Given the description of an element on the screen output the (x, y) to click on. 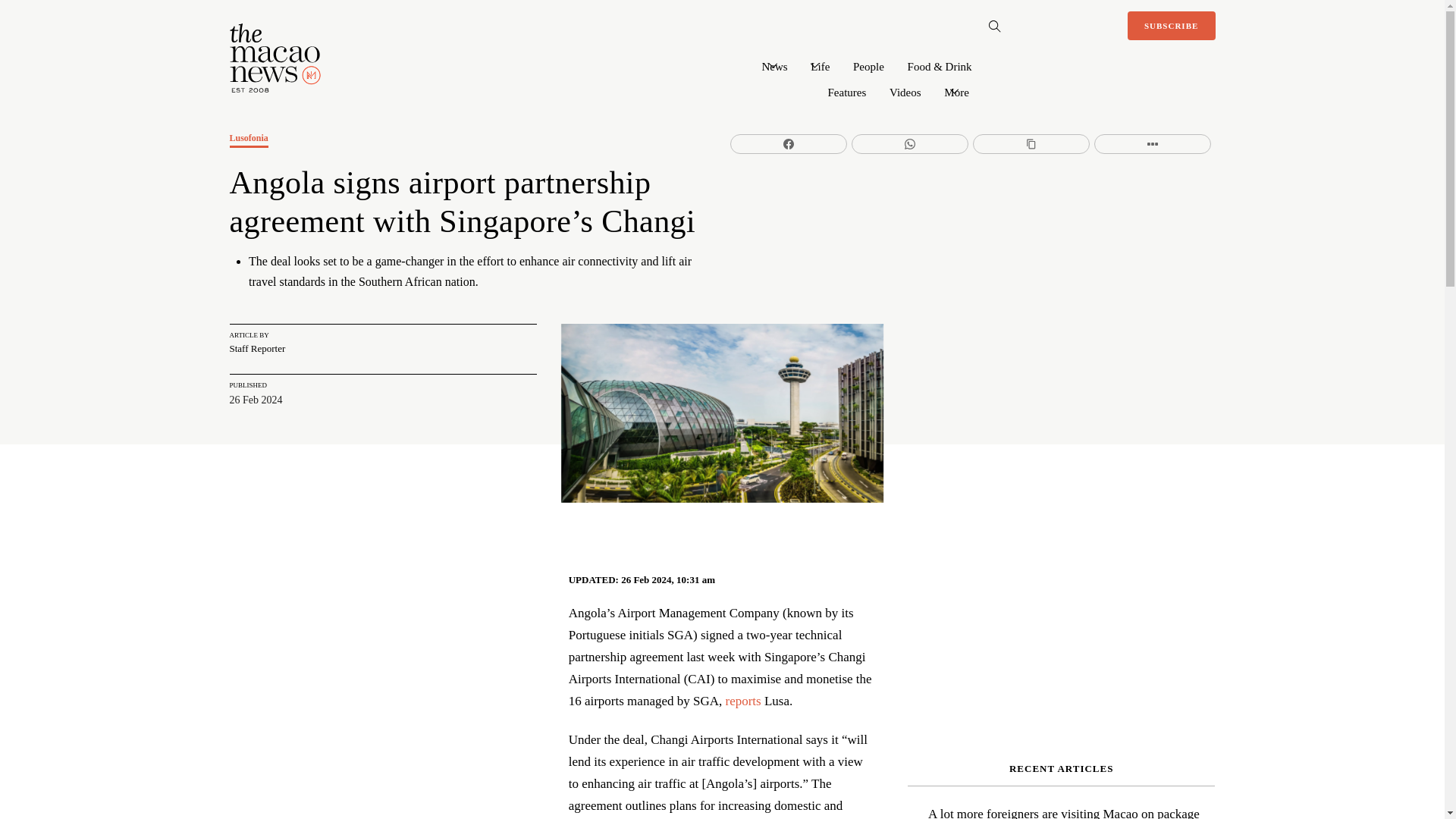
Share on More Button (1152, 143)
Share on Facebook (788, 143)
Share on WhatsApp (909, 143)
Share on Copy Link (1030, 143)
